Given the description of an element on the screen output the (x, y) to click on. 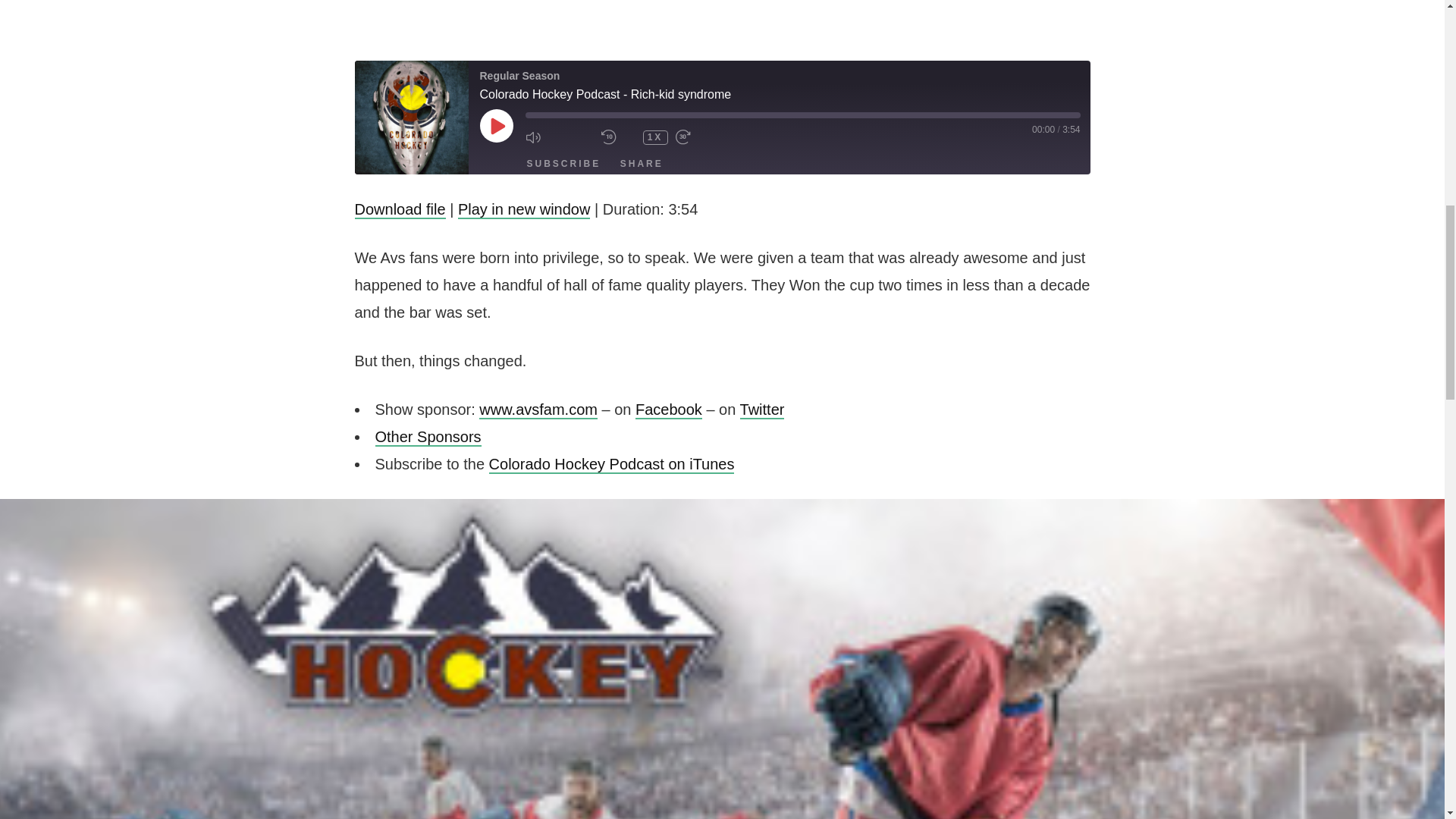
FAST FORWARD 30 SECONDS (708, 137)
1X (655, 137)
Twitter (761, 410)
Play in new window (524, 209)
Share (641, 164)
Facebook (667, 410)
Download file (400, 209)
SHARE (641, 164)
Fast Forward 30 seconds (708, 137)
www.avsfam.com (537, 410)
Playback Speed (655, 137)
PLAY EPISODE (495, 125)
REWIND 10 SECONDS (616, 137)
Colorado Hockey Podcast on iTunes (612, 464)
Other Sponsors (427, 437)
